Given the description of an element on the screen output the (x, y) to click on. 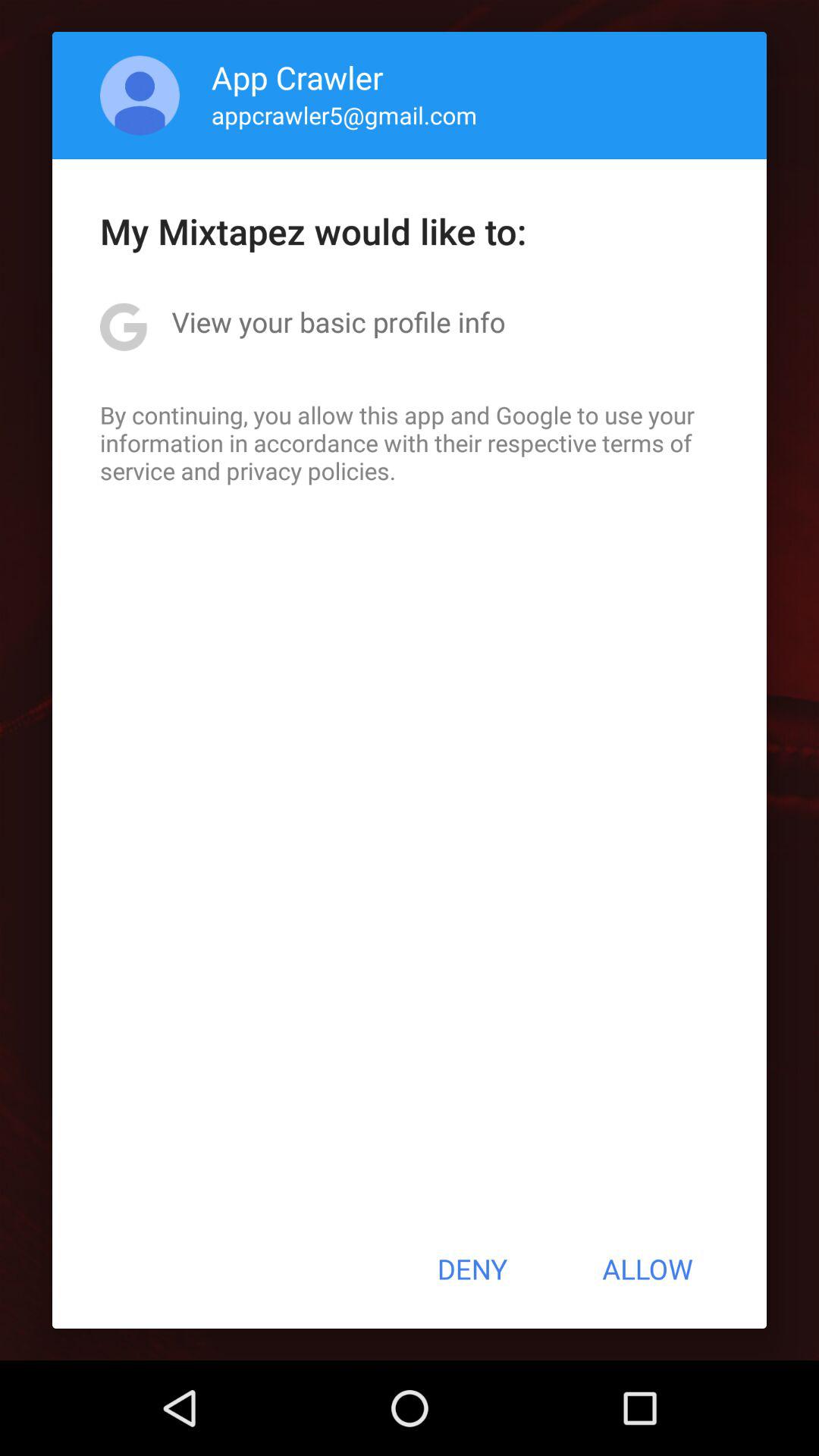
choose icon above my mixtapez would (139, 95)
